Given the description of an element on the screen output the (x, y) to click on. 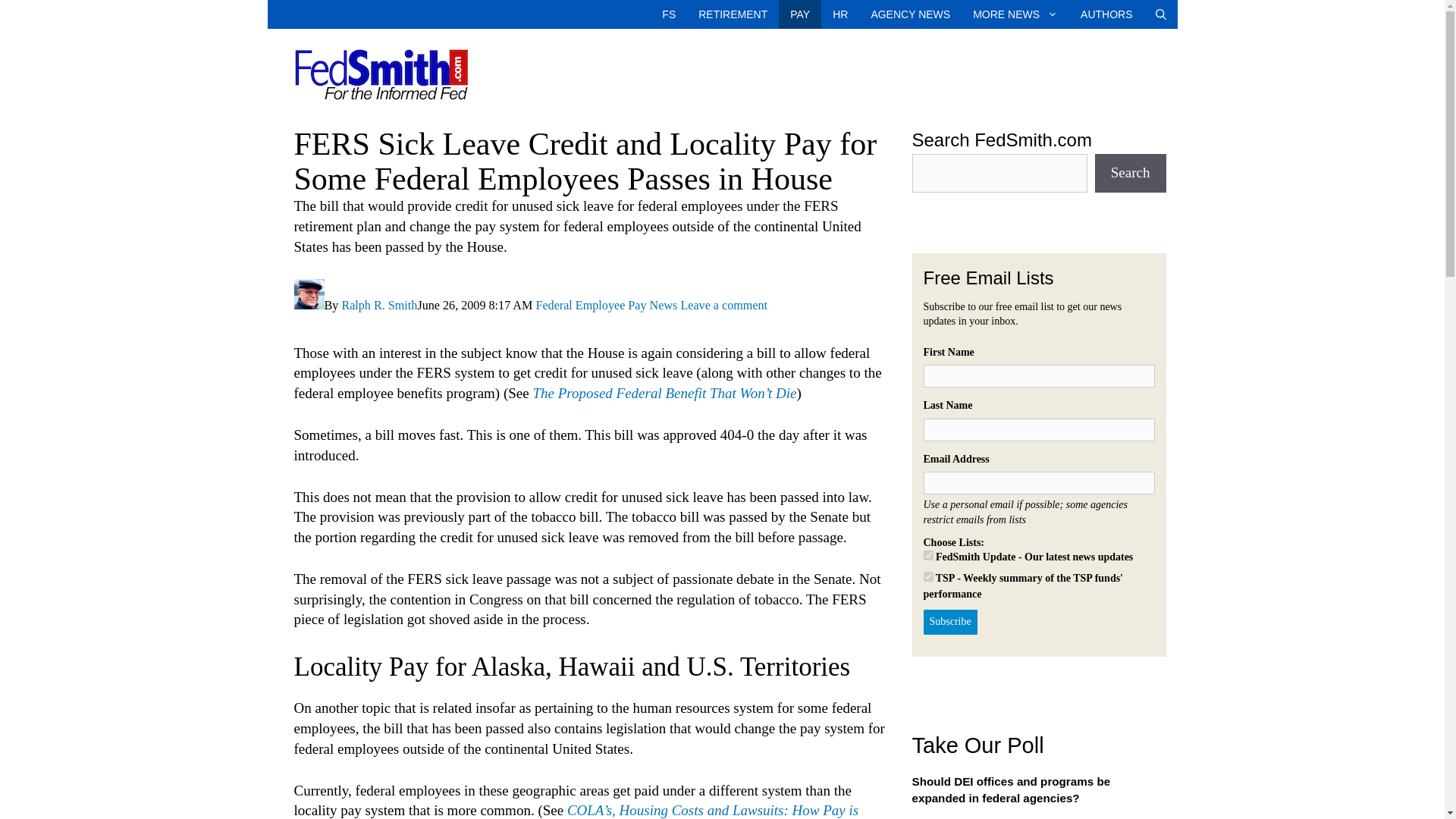
AUTHORS (1105, 14)
RETIREMENT (732, 14)
AGENCY NEWS (909, 14)
2 (928, 576)
Leave a comment (723, 305)
Subscribe (949, 621)
Federal Human Resources News (840, 14)
1 (928, 555)
Federal Employee Pay and Benefits News (799, 14)
Home Page (668, 14)
FS (668, 14)
HR (840, 14)
MORE NEWS (1014, 14)
Federal Employee Pay News (606, 305)
View all articles by Ralph R. Smith (378, 305)
